Given the description of an element on the screen output the (x, y) to click on. 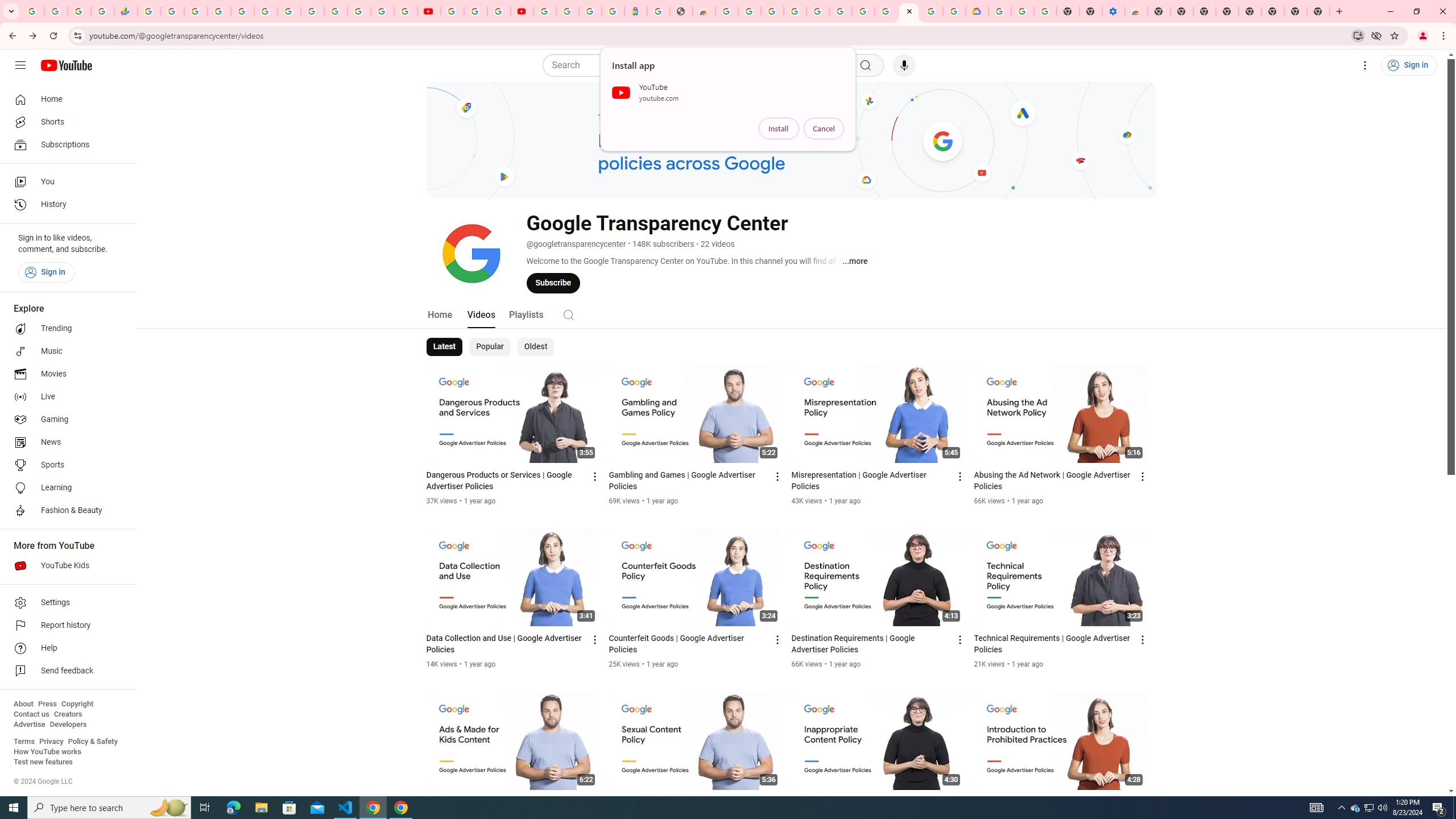
Advertise (29, 724)
Shorts (64, 121)
Ad Settings (794, 11)
Android TV Policies and Guidelines - Transparency Center (288, 11)
Sign in - Google Accounts (567, 11)
Google Account Help (475, 11)
Test new features (42, 761)
Contact us (31, 714)
